Given the description of an element on the screen output the (x, y) to click on. 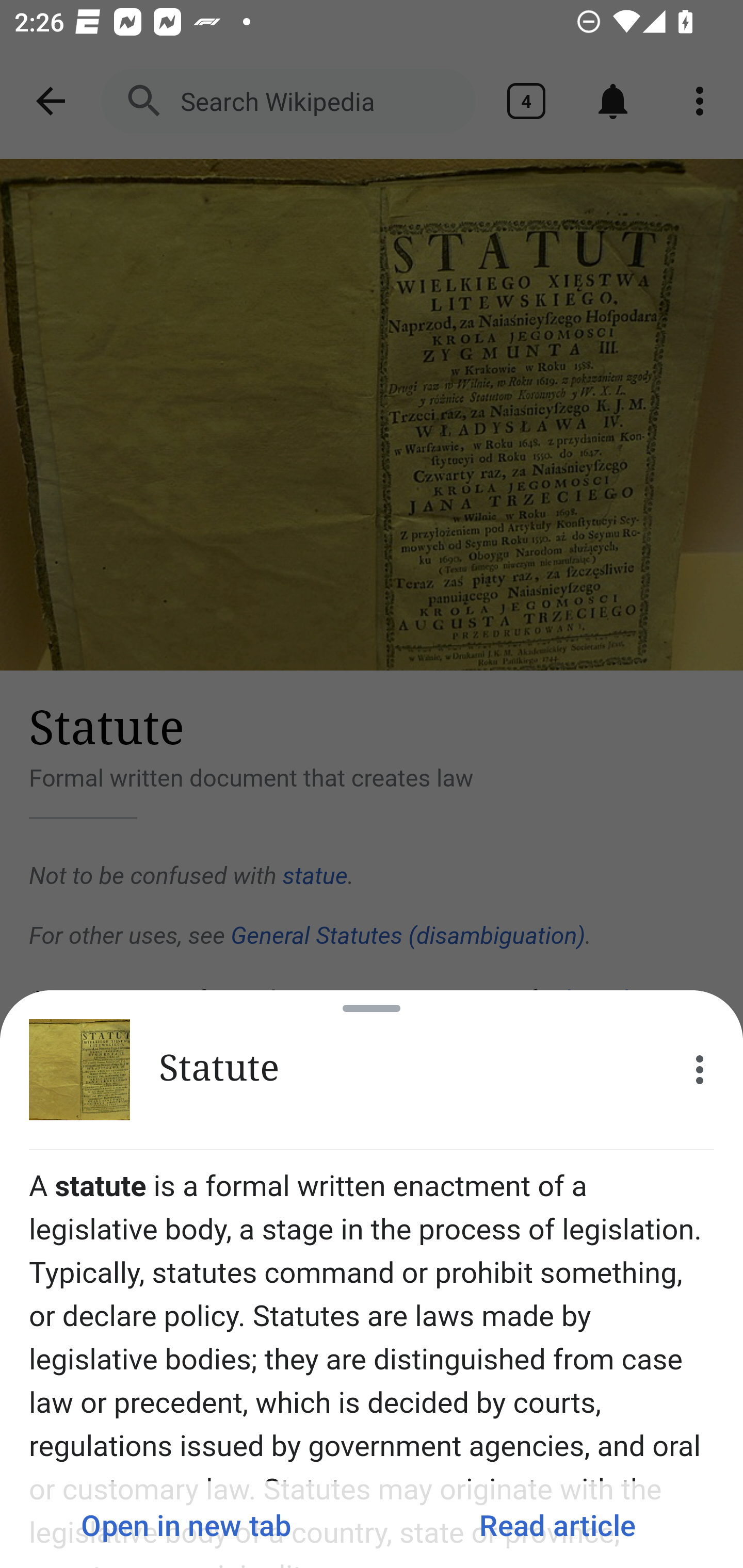
Statute More options (371, 1069)
More options (699, 1070)
Open in new tab (185, 1524)
Read article (557, 1524)
